Given the description of an element on the screen output the (x, y) to click on. 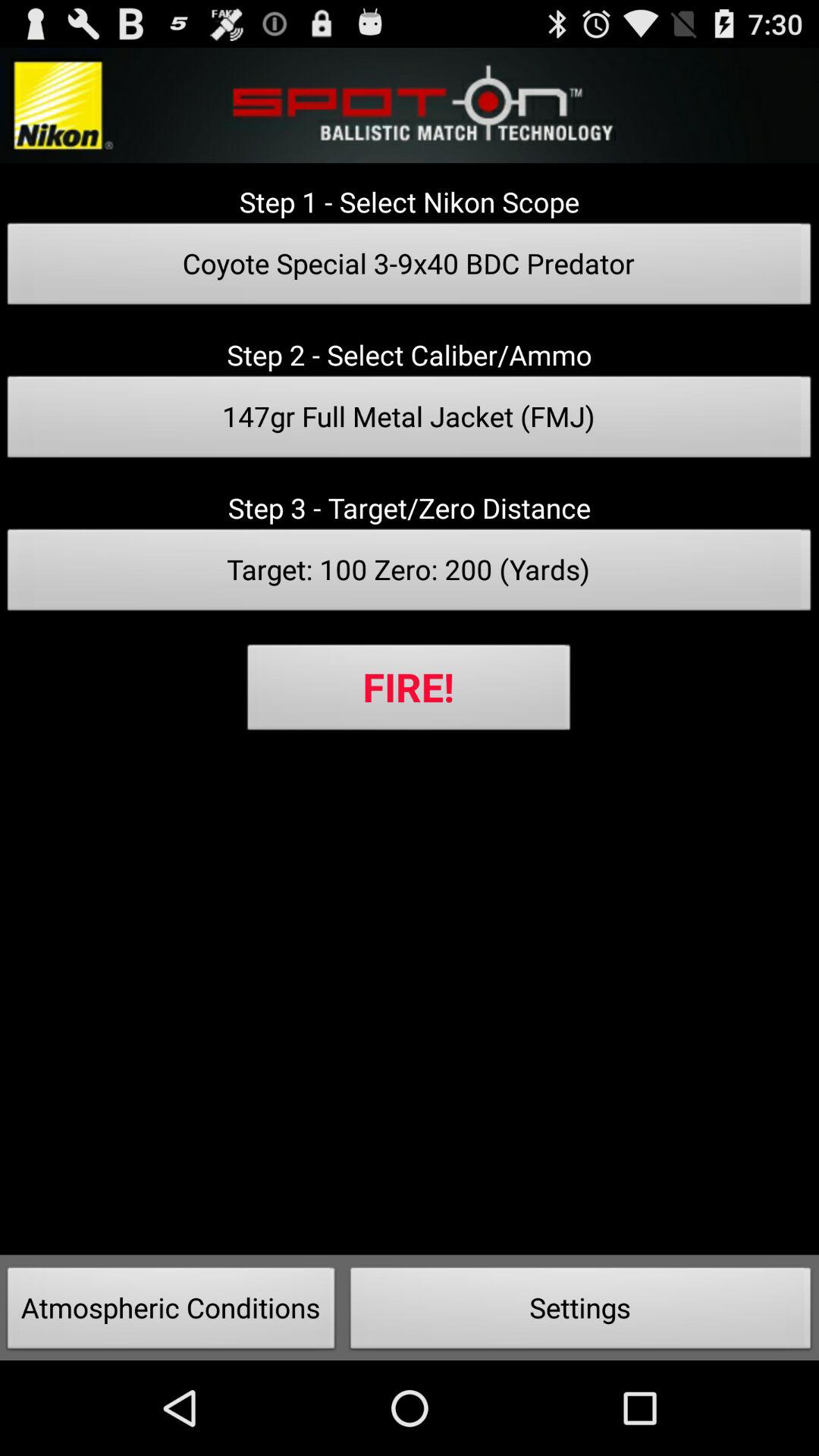
tap the 147gr full metal icon (409, 421)
